Given the description of an element on the screen output the (x, y) to click on. 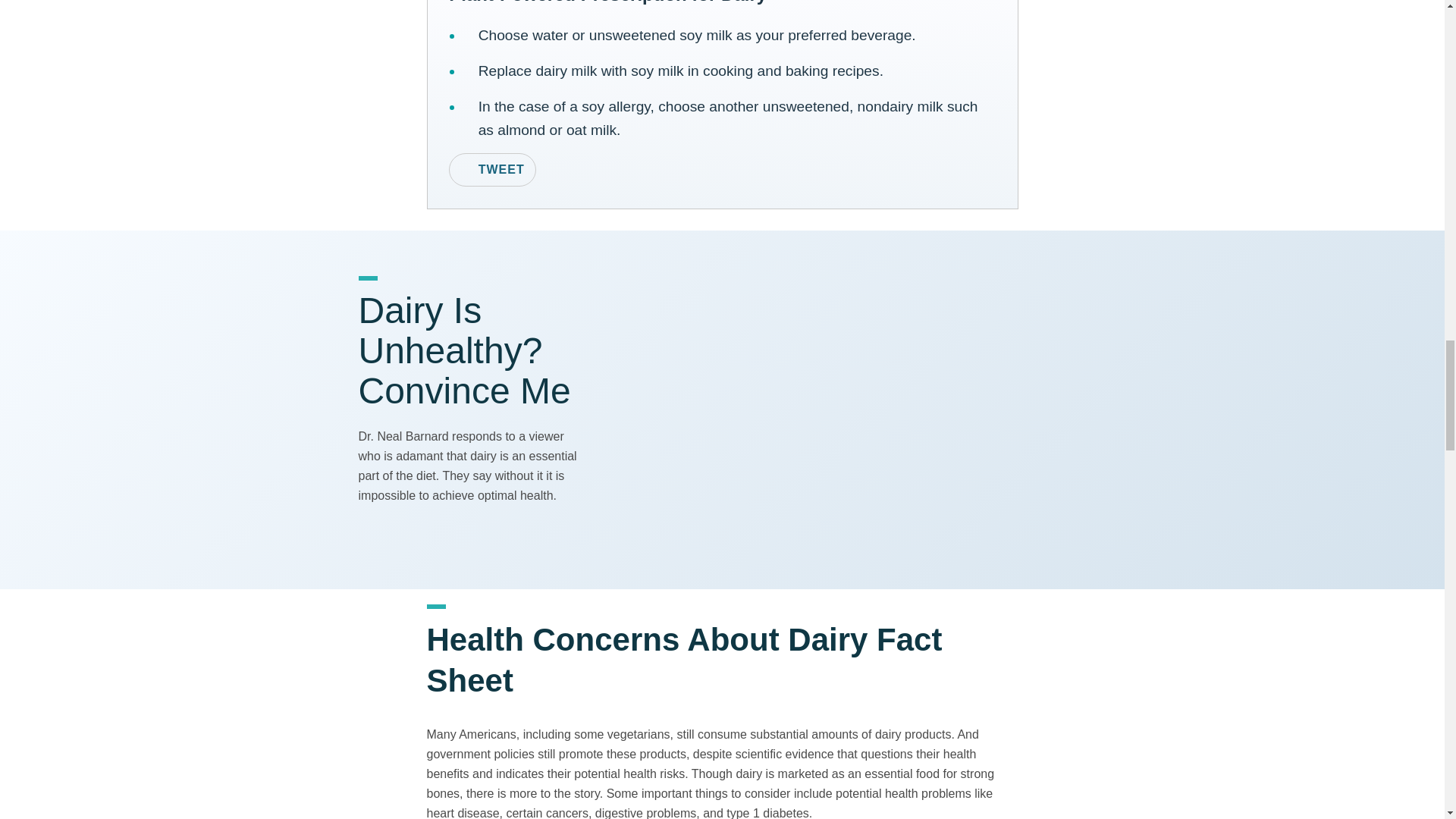
Play this video (848, 409)
